Given the description of an element on the screen output the (x, y) to click on. 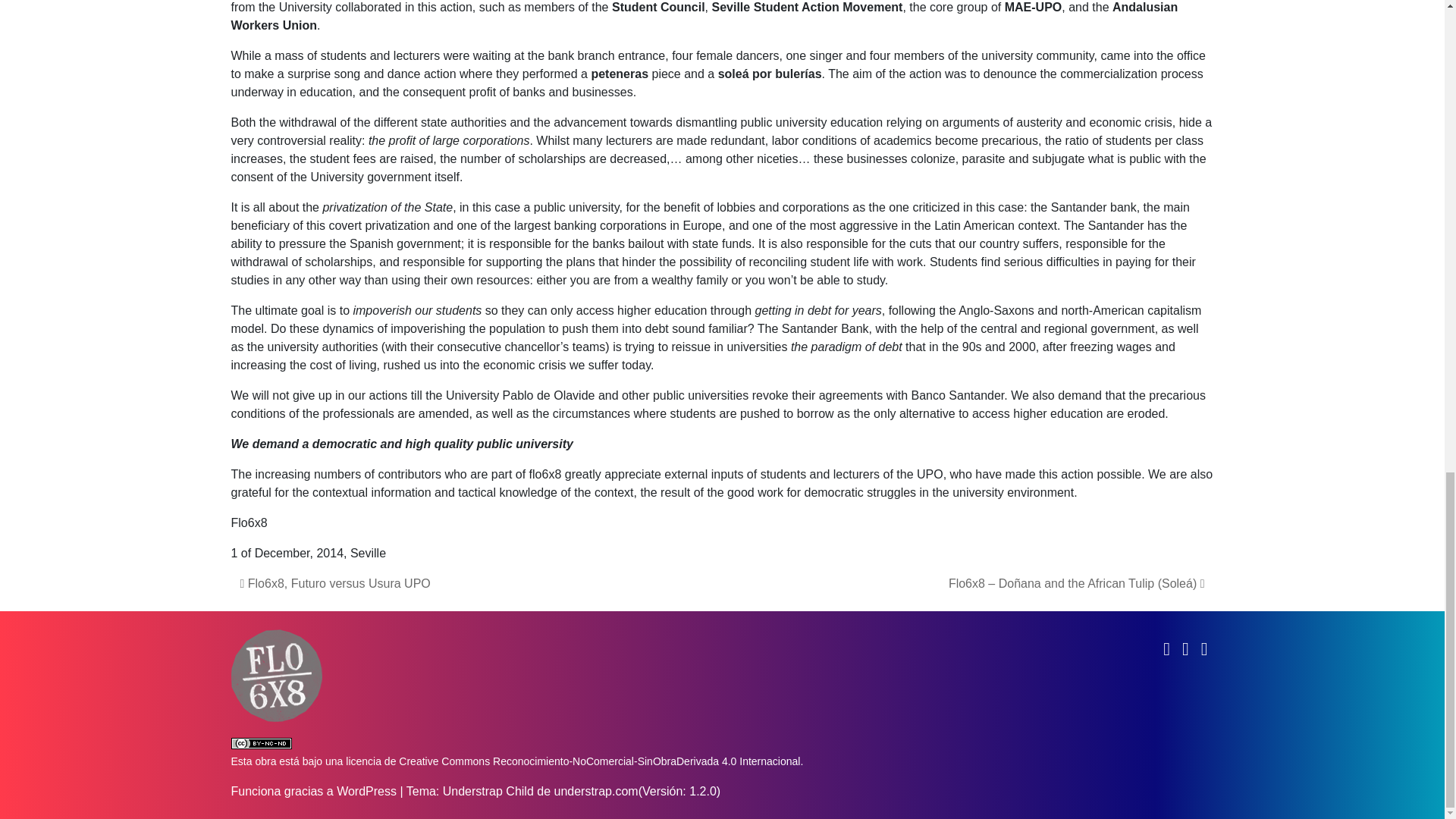
Funciona gracias a WordPress (313, 790)
 Flo6x8, Futuro versus Usura UPO (334, 583)
understrap.com (595, 790)
